Given the description of an element on the screen output the (x, y) to click on. 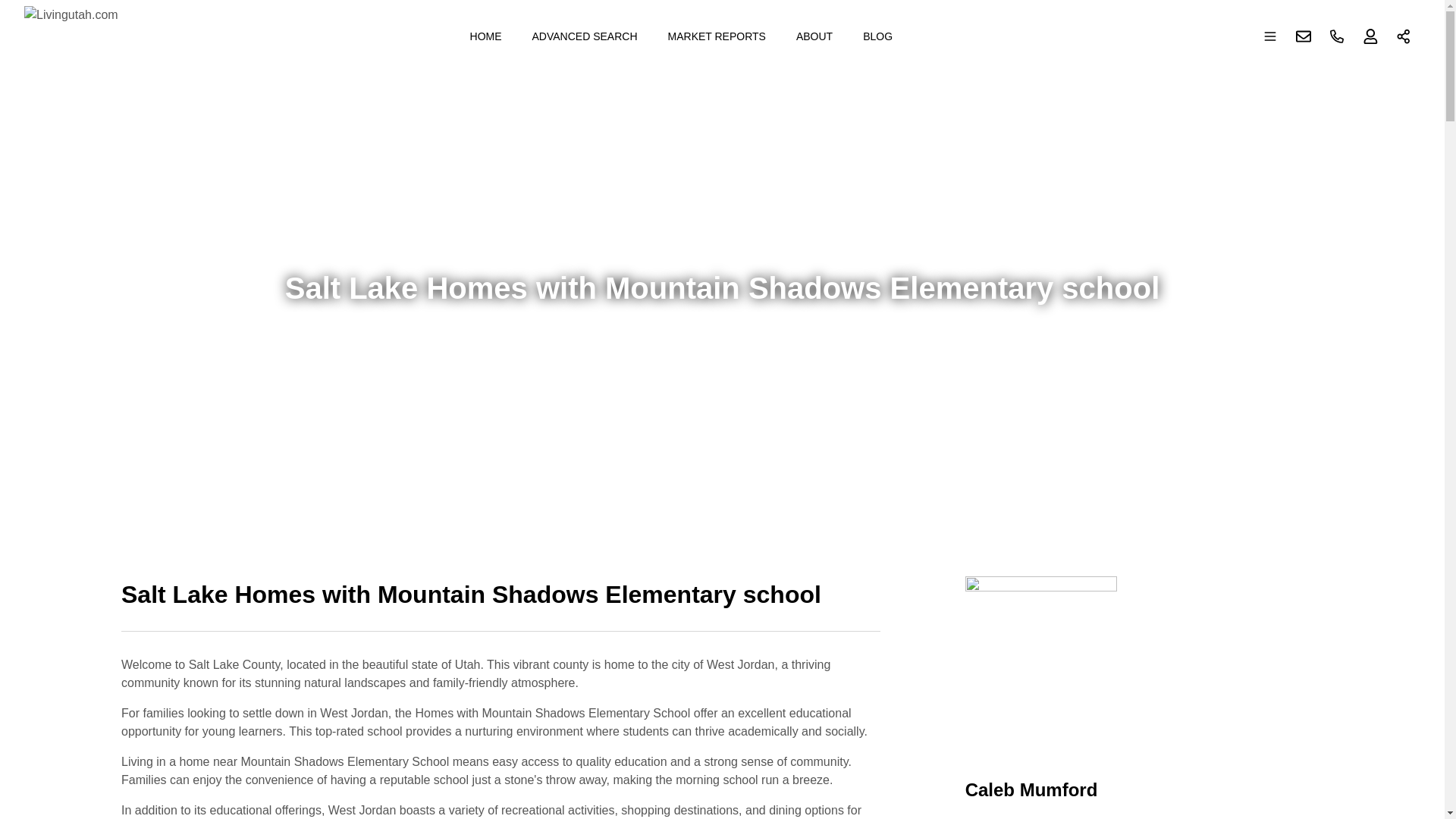
Share (1404, 36)
Salt Lake Homes with Mountain Shadows Elementary school (500, 603)
Livingutah.com (70, 35)
ADVANCED SEARCH (584, 36)
Open main menu (1270, 36)
Contact us (1303, 36)
MARKET REPORTS (716, 36)
Sign up or Sign in (1370, 36)
Phone number (1337, 36)
